Given the description of an element on the screen output the (x, y) to click on. 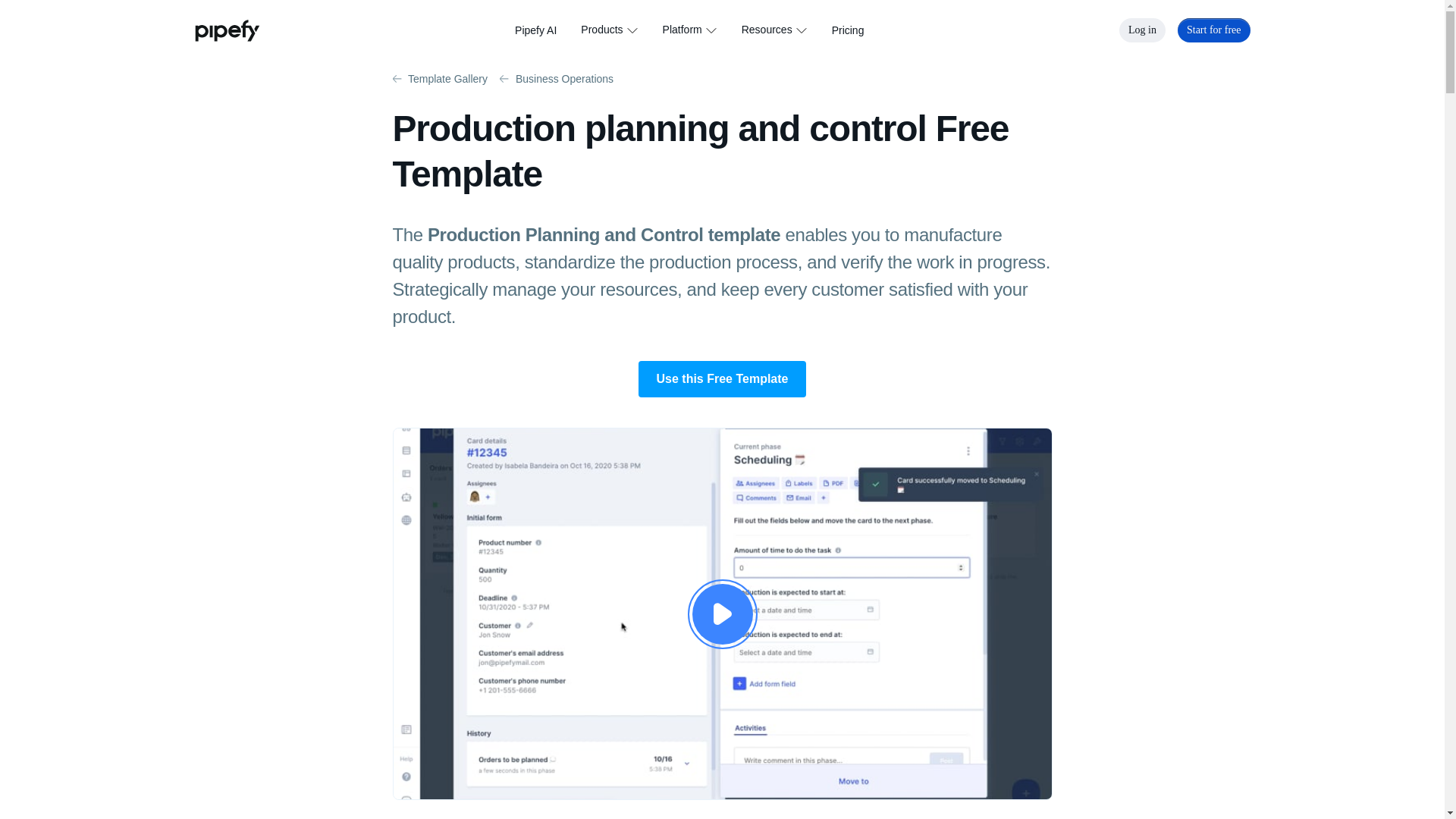
Start for free (1213, 30)
Log in (1142, 30)
Template Gallery (440, 78)
Pipefy AI (535, 30)
Use this Free Template (722, 379)
Pipefy (226, 30)
Business Operations (555, 78)
Pricing (847, 30)
